Given the description of an element on the screen output the (x, y) to click on. 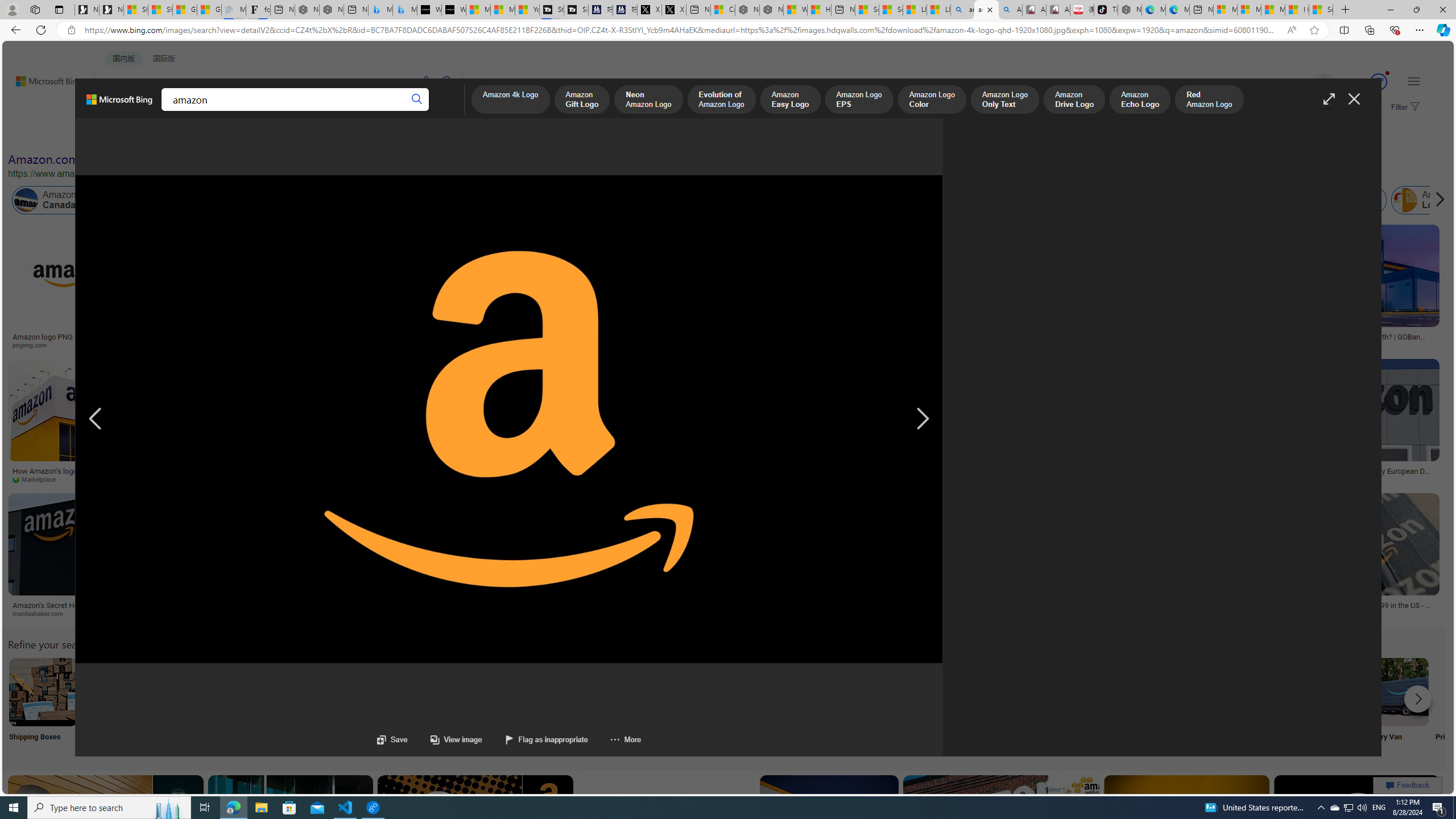
usatoday.com (309, 344)
manilashaker.com (42, 612)
MORE (443, 111)
Settings and quick links (1413, 80)
Microsoft Rewards 141 (1364, 81)
Amazon Shoes (1103, 199)
Amazon Prime Membership (801, 199)
aiophotoz.com (1170, 479)
